Given the description of an element on the screen output the (x, y) to click on. 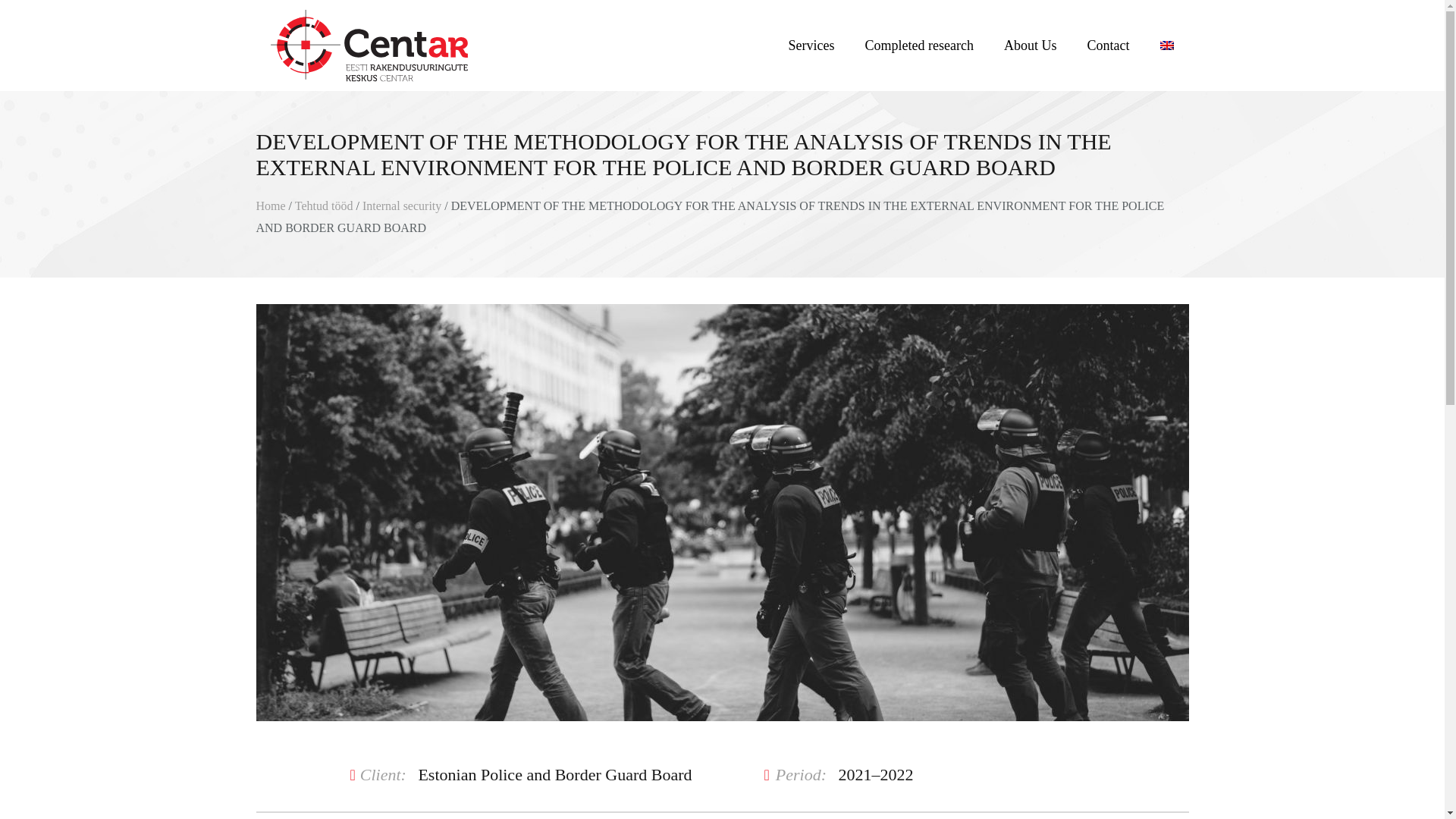
Internal security (401, 205)
About Us (1029, 45)
Completed research (919, 45)
Centar (371, 45)
Home (270, 205)
